Given the description of an element on the screen output the (x, y) to click on. 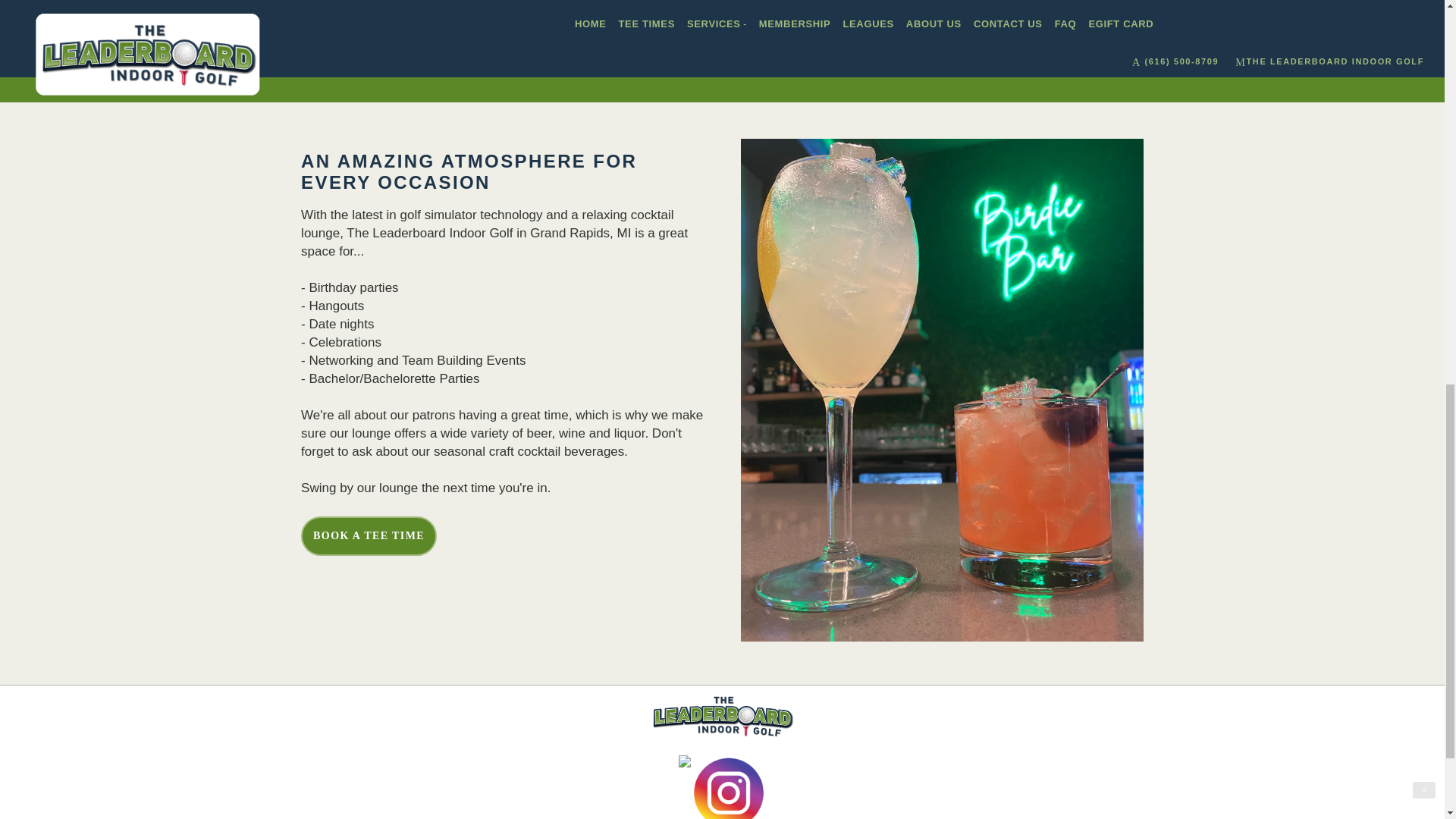
The Leaderboard Indoor Golf (722, 715)
